Given the description of an element on the screen output the (x, y) to click on. 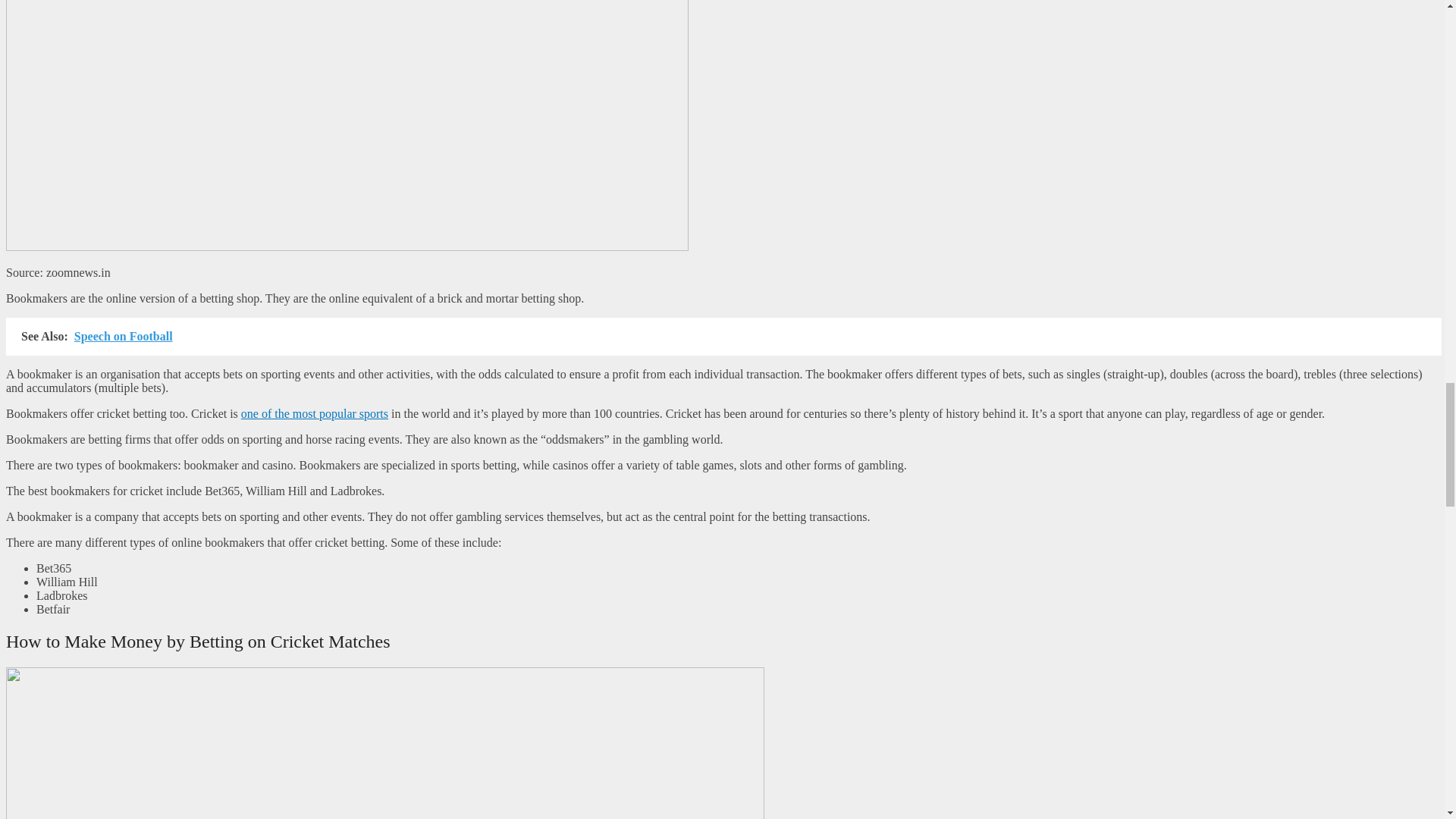
one of the most popular sports (314, 413)
